Given the description of an element on the screen output the (x, y) to click on. 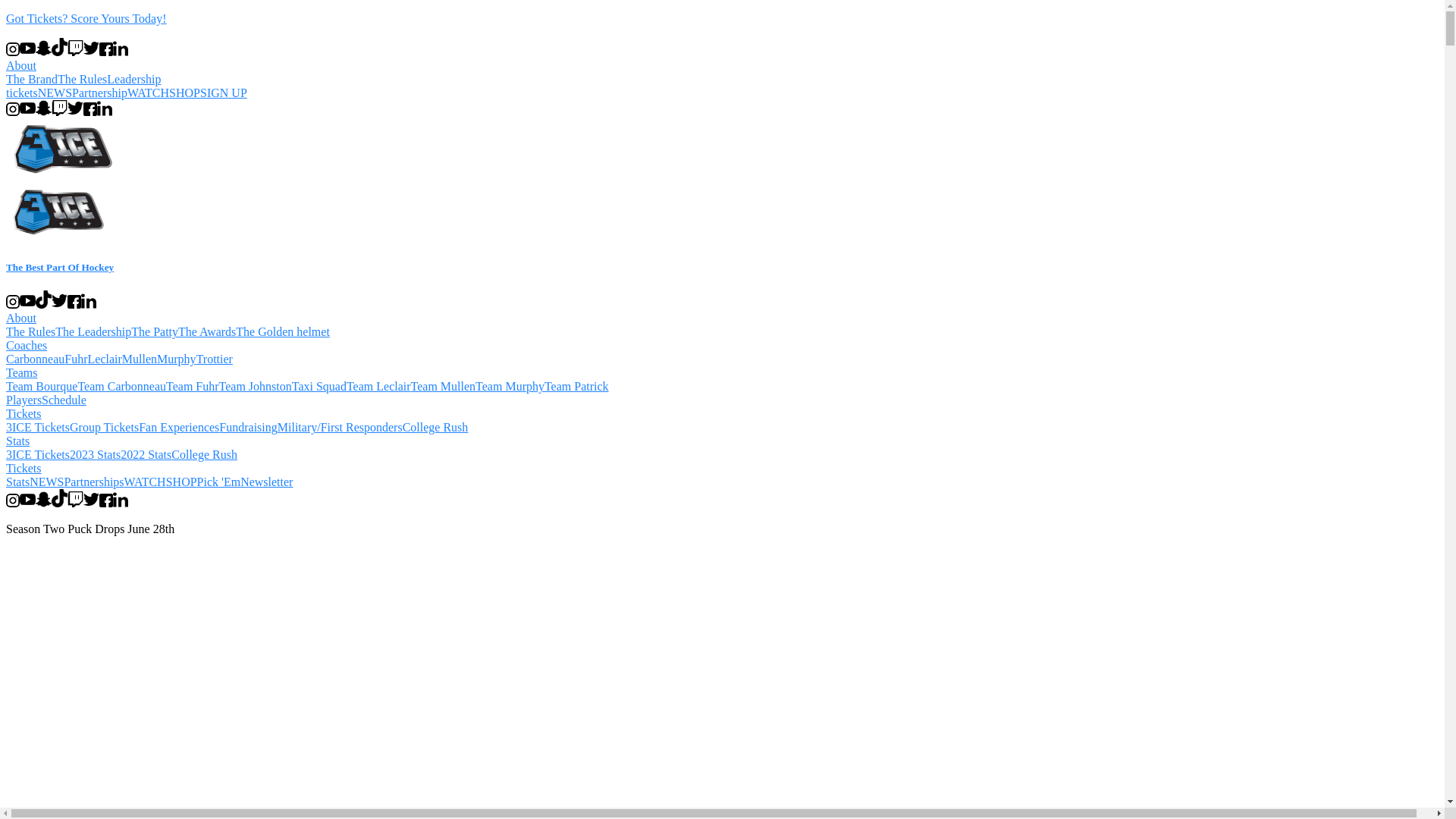
3ICE Tickets Element type: text (37, 426)
2022 Stats Element type: text (145, 454)
Leadership Element type: text (133, 78)
The Rules Element type: text (81, 78)
SHOP Element type: text (181, 481)
The Brand Element type: text (31, 78)
Coaches Element type: text (26, 344)
Mullen Element type: text (139, 358)
The Best Part Of Hockey Element type: text (722, 252)
About Element type: text (21, 317)
Team Carbonneau Element type: text (121, 385)
Team Fuhr Element type: text (192, 385)
tickets Element type: text (21, 92)
Stats Element type: text (17, 481)
Tickets Element type: text (23, 467)
College Rush Element type: text (435, 426)
NEWS Element type: text (54, 92)
Players Element type: text (23, 399)
Fan Experiences Element type: text (178, 426)
College Rush Element type: text (204, 454)
Group Tickets Element type: text (103, 426)
SIGN UP Element type: text (223, 92)
Got Tickets? Score Yours Today! Element type: text (722, 18)
Fundraising Element type: text (247, 426)
2023 Stats Element type: text (94, 454)
Carbonneau Element type: text (35, 358)
The Patty Element type: text (154, 331)
NEWS Element type: text (46, 481)
The Leadership Element type: text (93, 331)
Team Johnston Element type: text (255, 385)
About Element type: text (21, 65)
Leclair Element type: text (104, 358)
WATCH Element type: text (145, 481)
Partnerships Element type: text (93, 481)
Newsletter Element type: text (266, 481)
Stats Element type: text (17, 440)
Trottier Element type: text (214, 358)
Taxi Squad Element type: text (318, 385)
Tickets Element type: text (23, 413)
The Awards Element type: text (206, 331)
The Rules Element type: text (30, 331)
3ICE Tickets Element type: text (37, 454)
Team Patrick Element type: text (576, 385)
Pick 'Em Element type: text (219, 481)
Military/First Responders Element type: text (339, 426)
Partnership Element type: text (99, 92)
Team Mullen Element type: text (443, 385)
Team Bourque Element type: text (41, 385)
The Golden helmet Element type: text (282, 331)
Team Murphy Element type: text (509, 385)
WATCH Element type: text (148, 92)
Teams Element type: text (21, 372)
Schedule Element type: text (63, 399)
SHOP Element type: text (184, 92)
Murphy Element type: text (176, 358)
Fuhr Element type: text (75, 358)
Team Leclair Element type: text (378, 385)
